Given the description of an element on the screen output the (x, y) to click on. 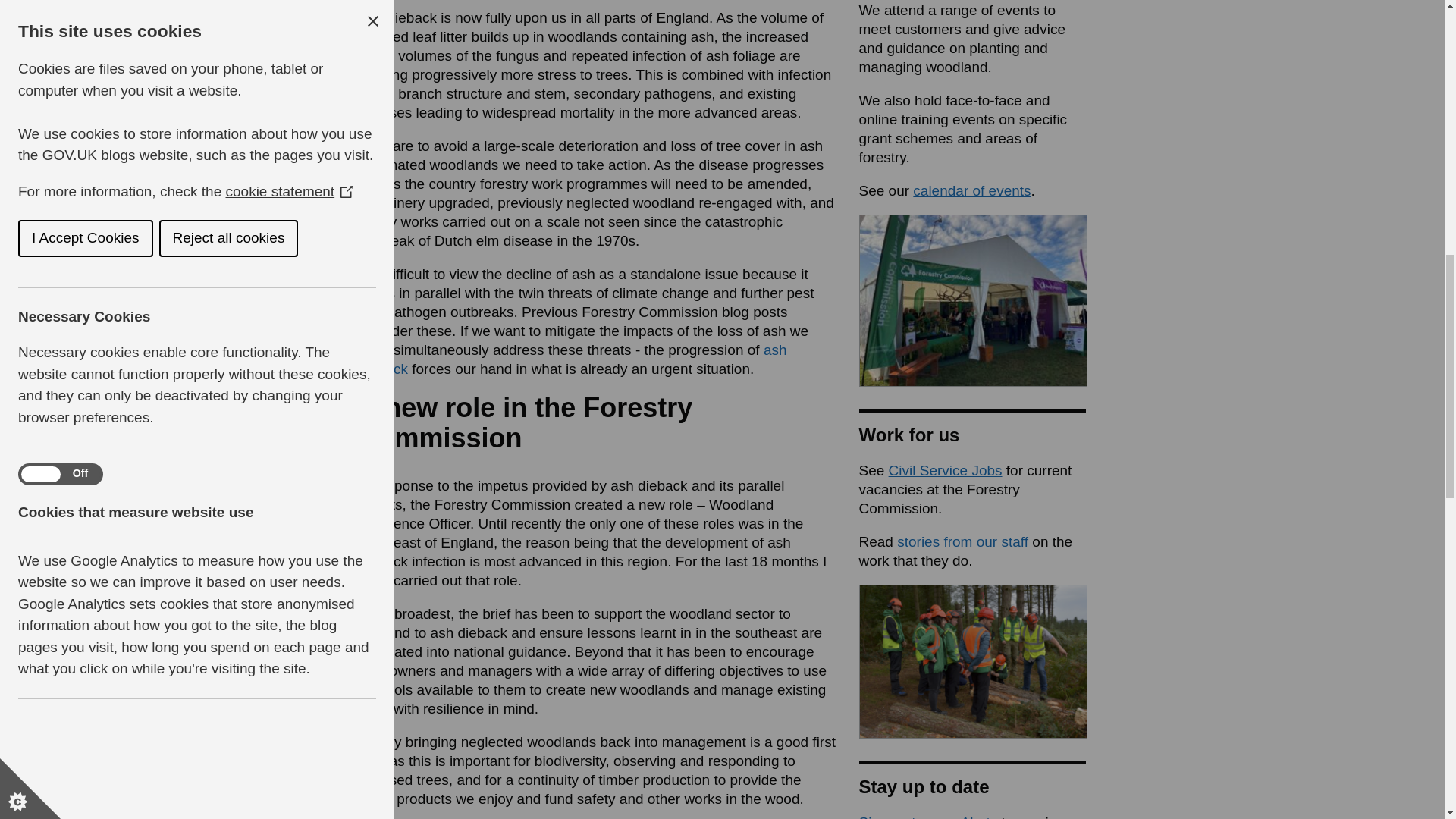
calendar of events (971, 190)
ash dieback (572, 359)
Sign up to our eAlerts (928, 816)
Civil Service Jobs (945, 470)
stories from our staff (961, 541)
